Given the description of an element on the screen output the (x, y) to click on. 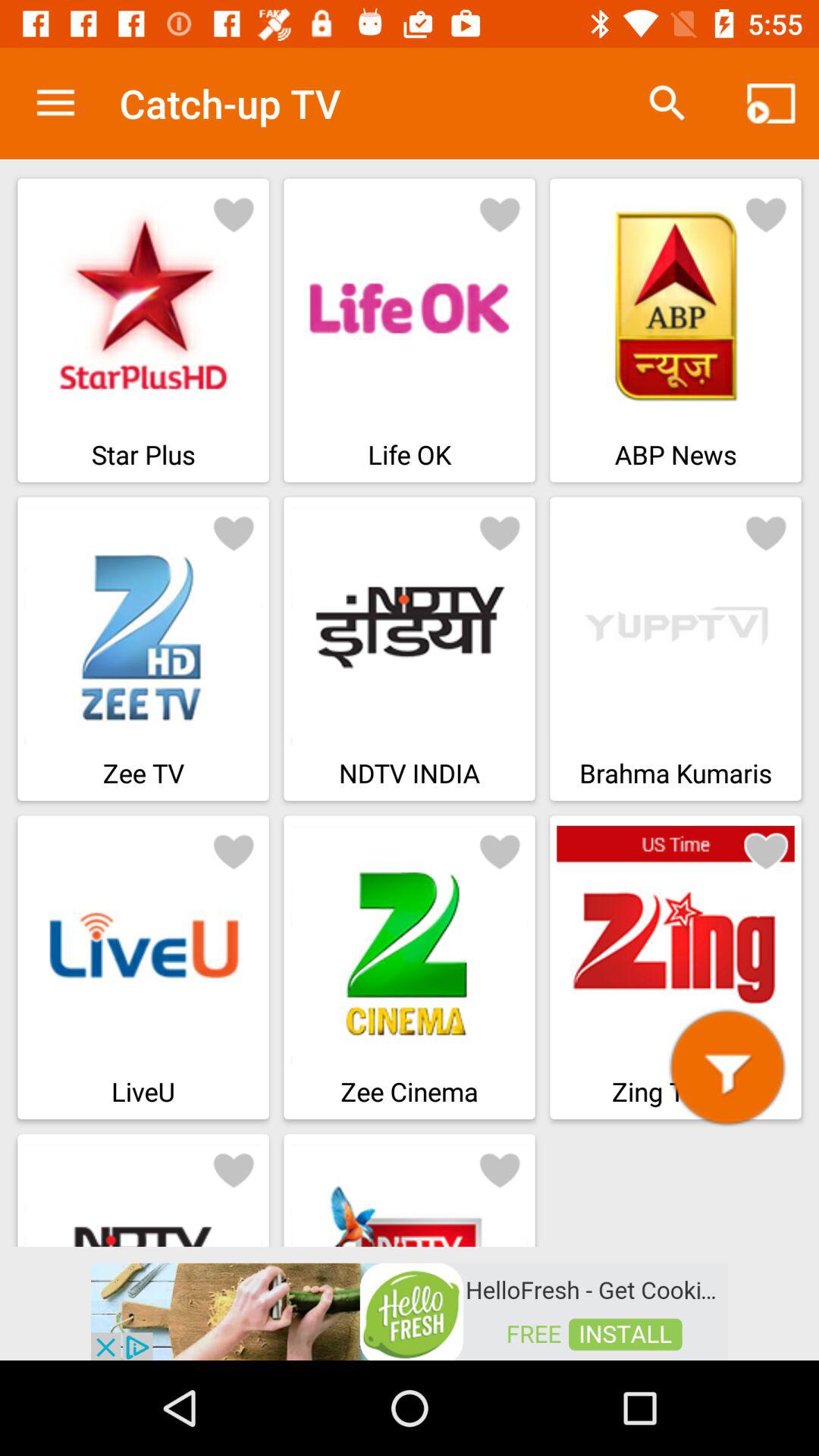
click to favourite (766, 532)
